Given the description of an element on the screen output the (x, y) to click on. 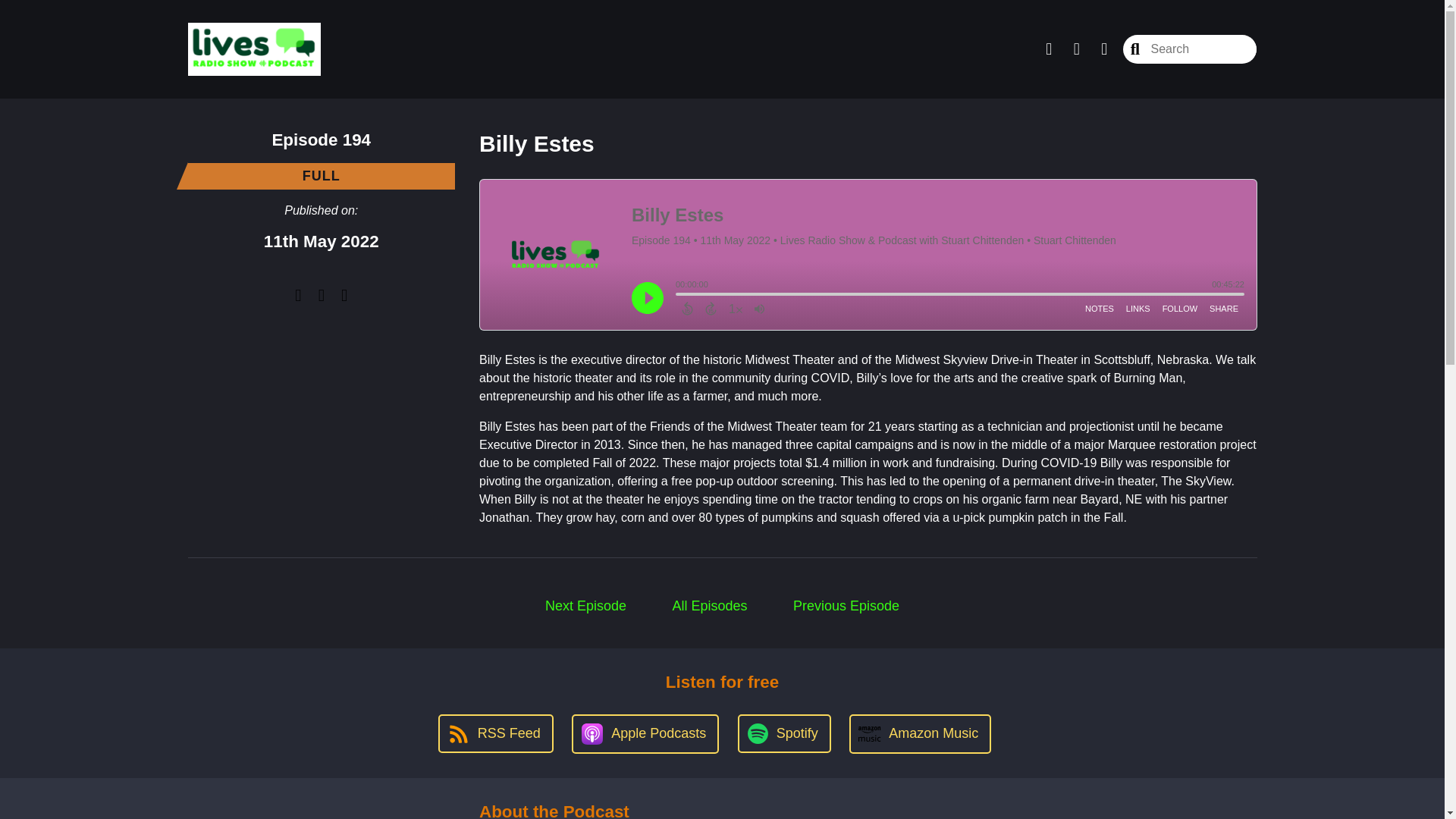
All Episodes (709, 606)
Amazon Music (919, 733)
Spotify (784, 733)
Previous Episode (845, 606)
RSS Feed (495, 733)
Next Episode (585, 606)
Apple Podcasts (645, 733)
